Given the description of an element on the screen output the (x, y) to click on. 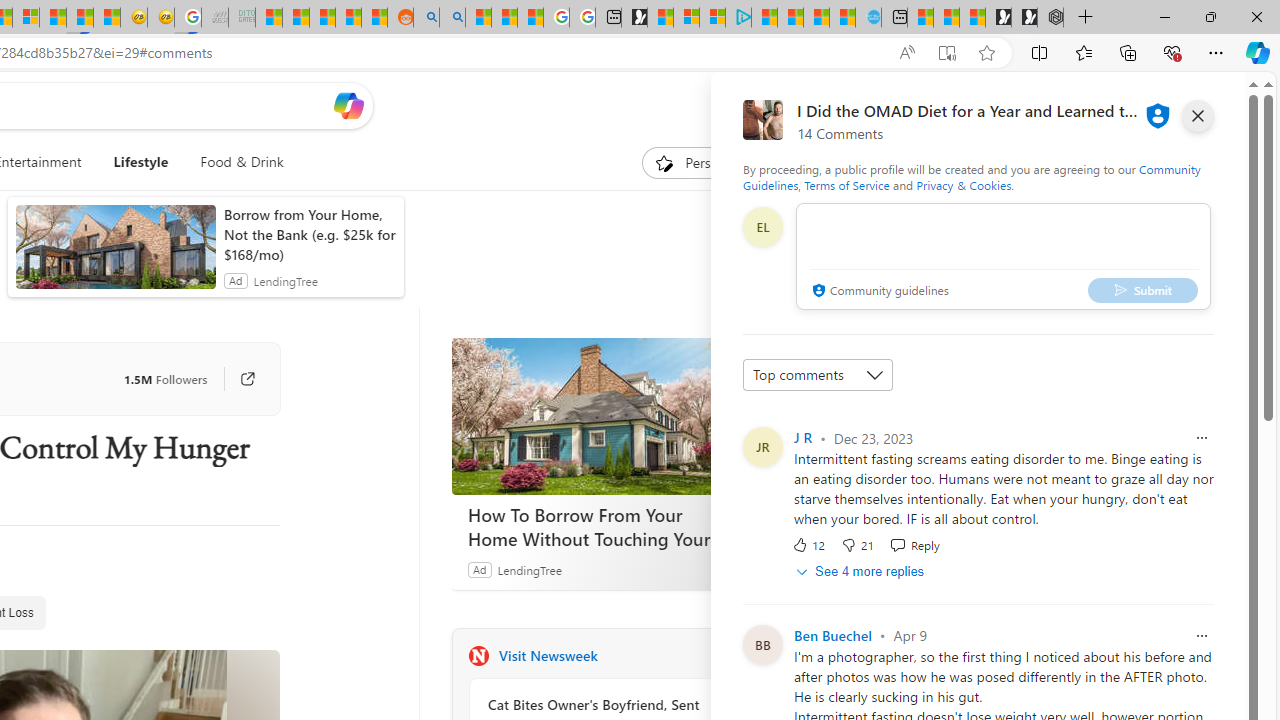
See 4 more replies (861, 570)
Student Loan Update: Forgiveness Program Ends This Month (347, 17)
